Given the description of an element on the screen output the (x, y) to click on. 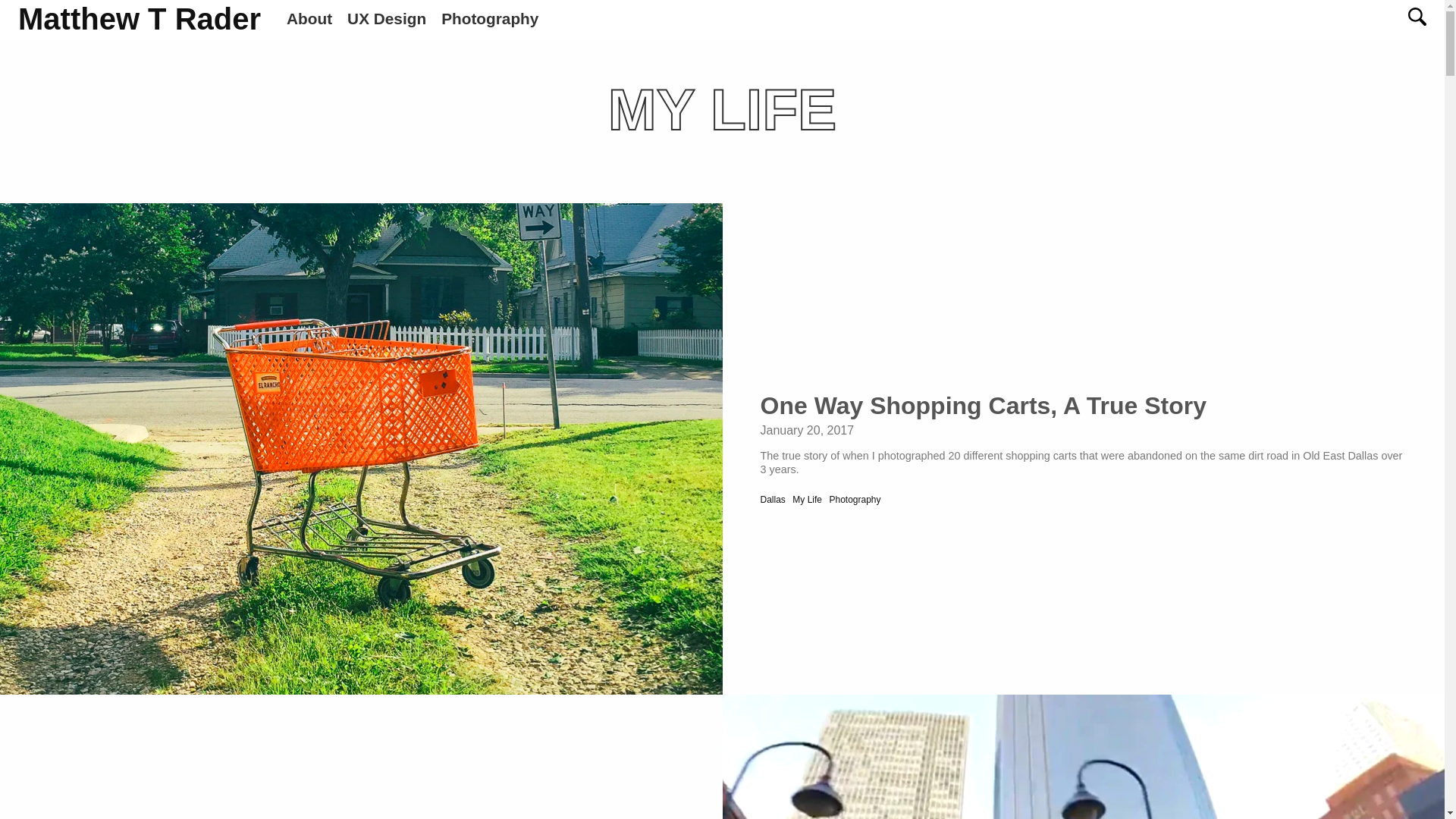
Search (32, 12)
My Life (807, 499)
Dallas (772, 499)
Photography (497, 18)
Photography (854, 499)
Matthew T Rader (138, 19)
About (316, 18)
UX Design (394, 18)
One Way Shopping Carts, A True Story (983, 405)
